Given the description of an element on the screen output the (x, y) to click on. 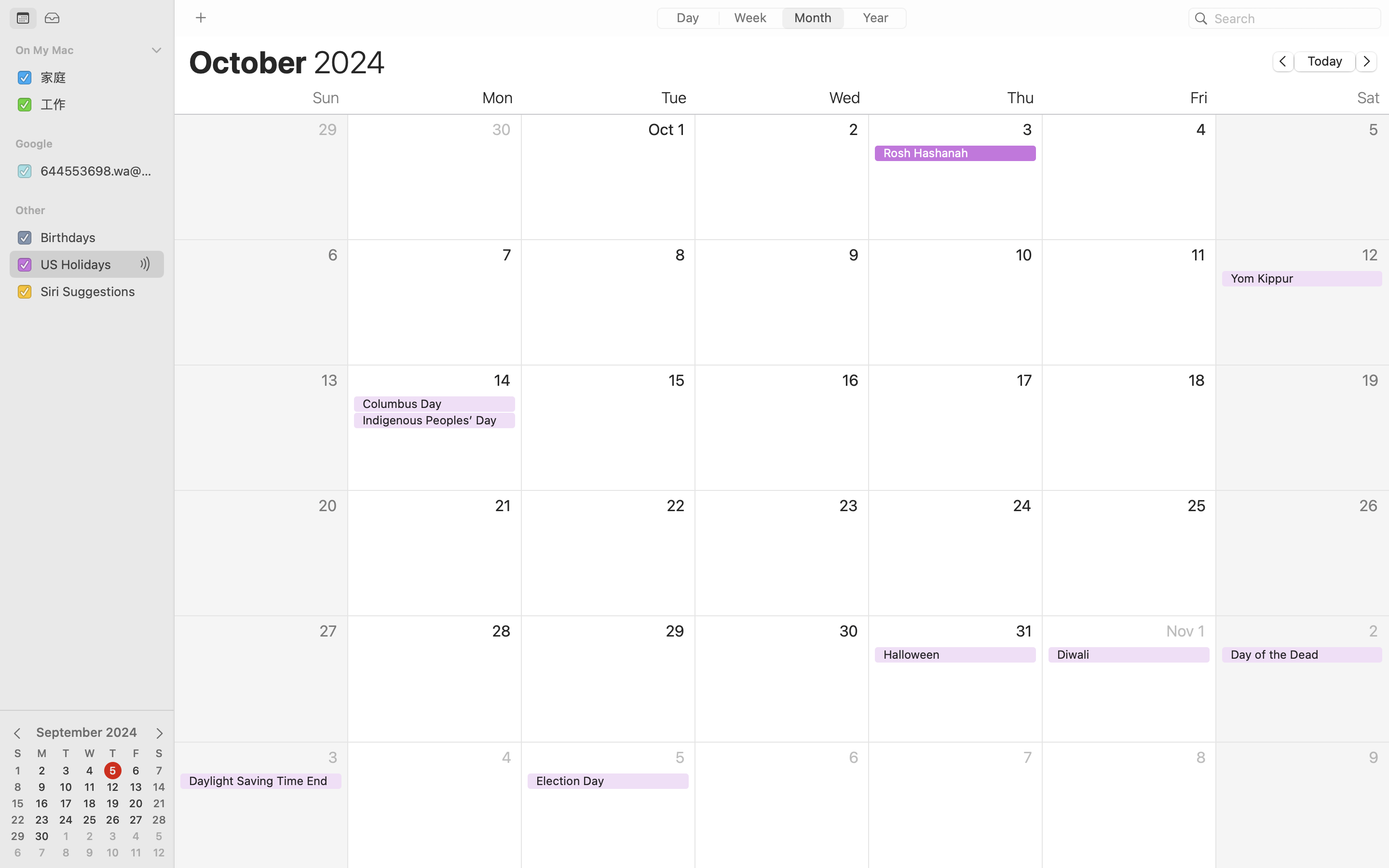
10 Element type: AXStaticText (66, 787)
